Given the description of an element on the screen output the (x, y) to click on. 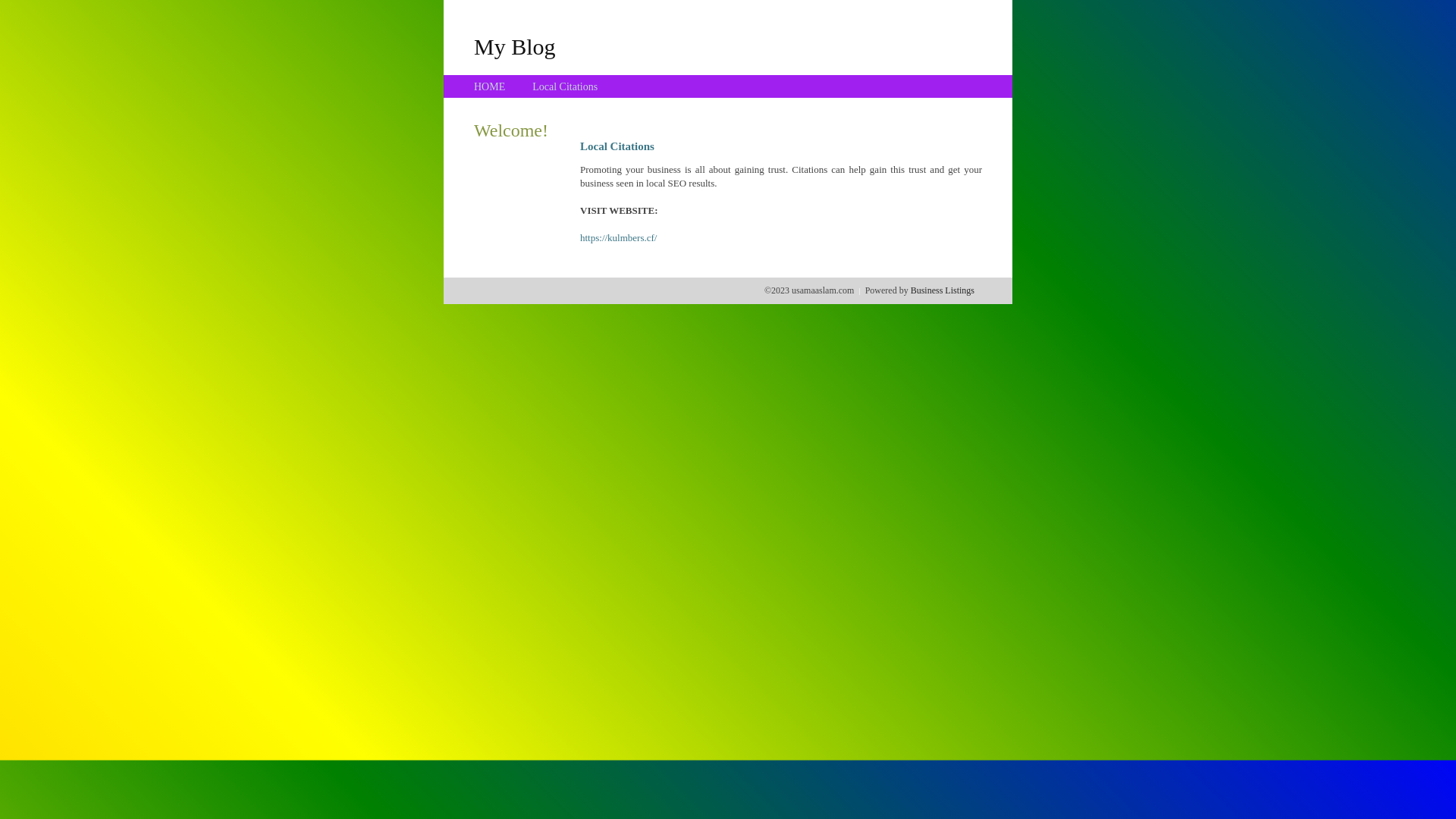
https://kulmbers.cf/ Element type: text (618, 237)
My Blog Element type: text (514, 46)
HOME Element type: text (489, 86)
Business Listings Element type: text (942, 290)
Local Citations Element type: text (564, 86)
